Given the description of an element on the screen output the (x, y) to click on. 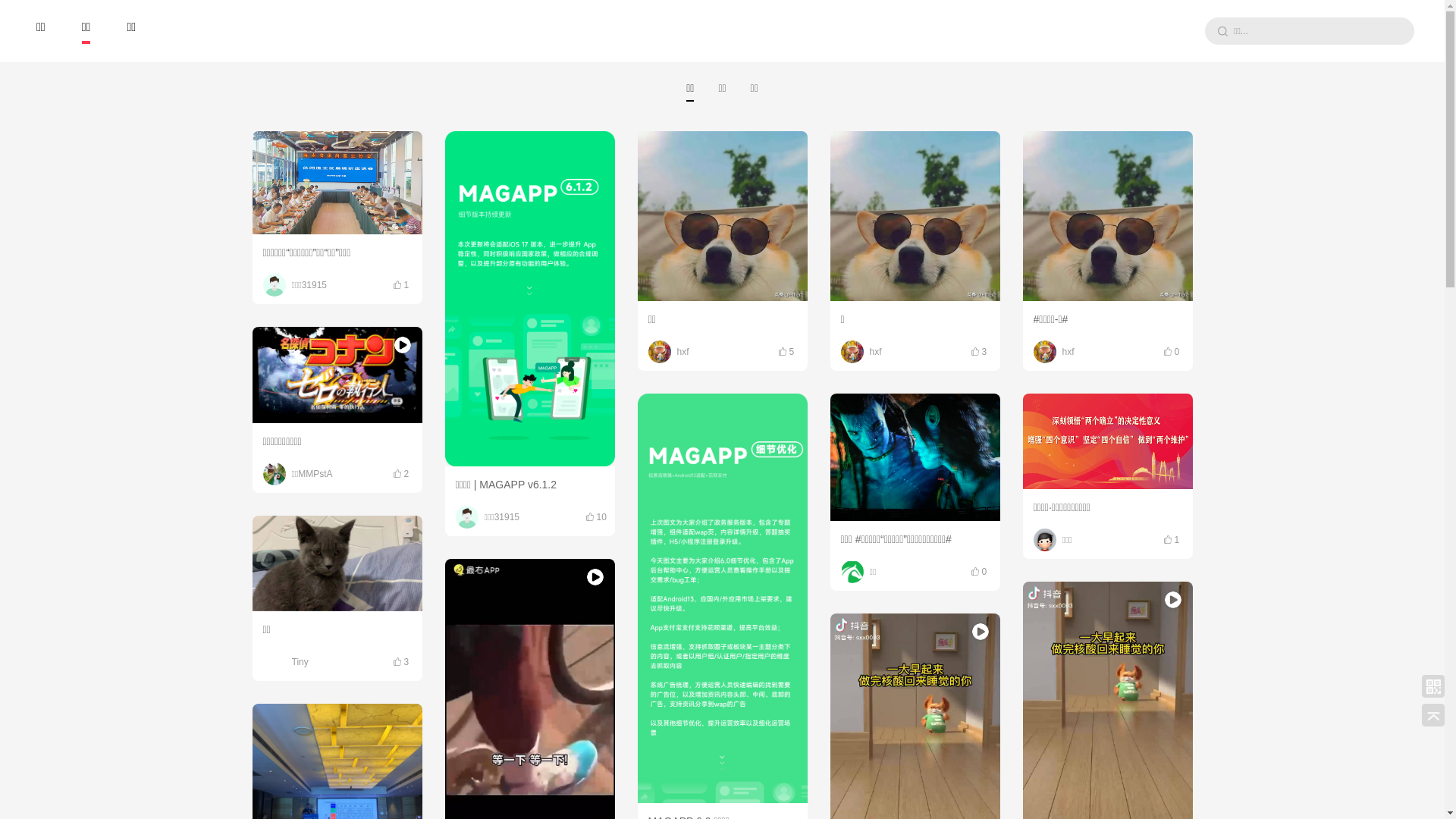
Tiny
1 Element type: text (529, 532)
Tiny
4 Element type: text (336, 520)
